Given the description of an element on the screen output the (x, y) to click on. 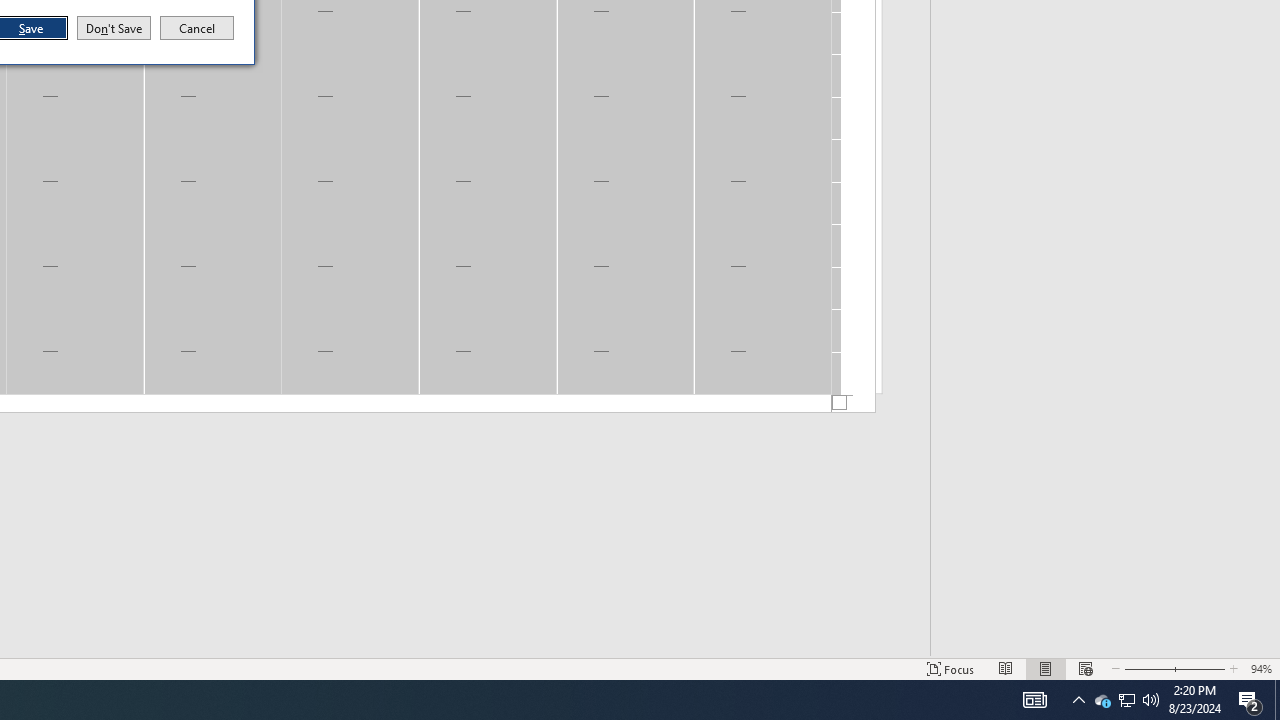
Don't Save (113, 27)
